Given the description of an element on the screen output the (x, y) to click on. 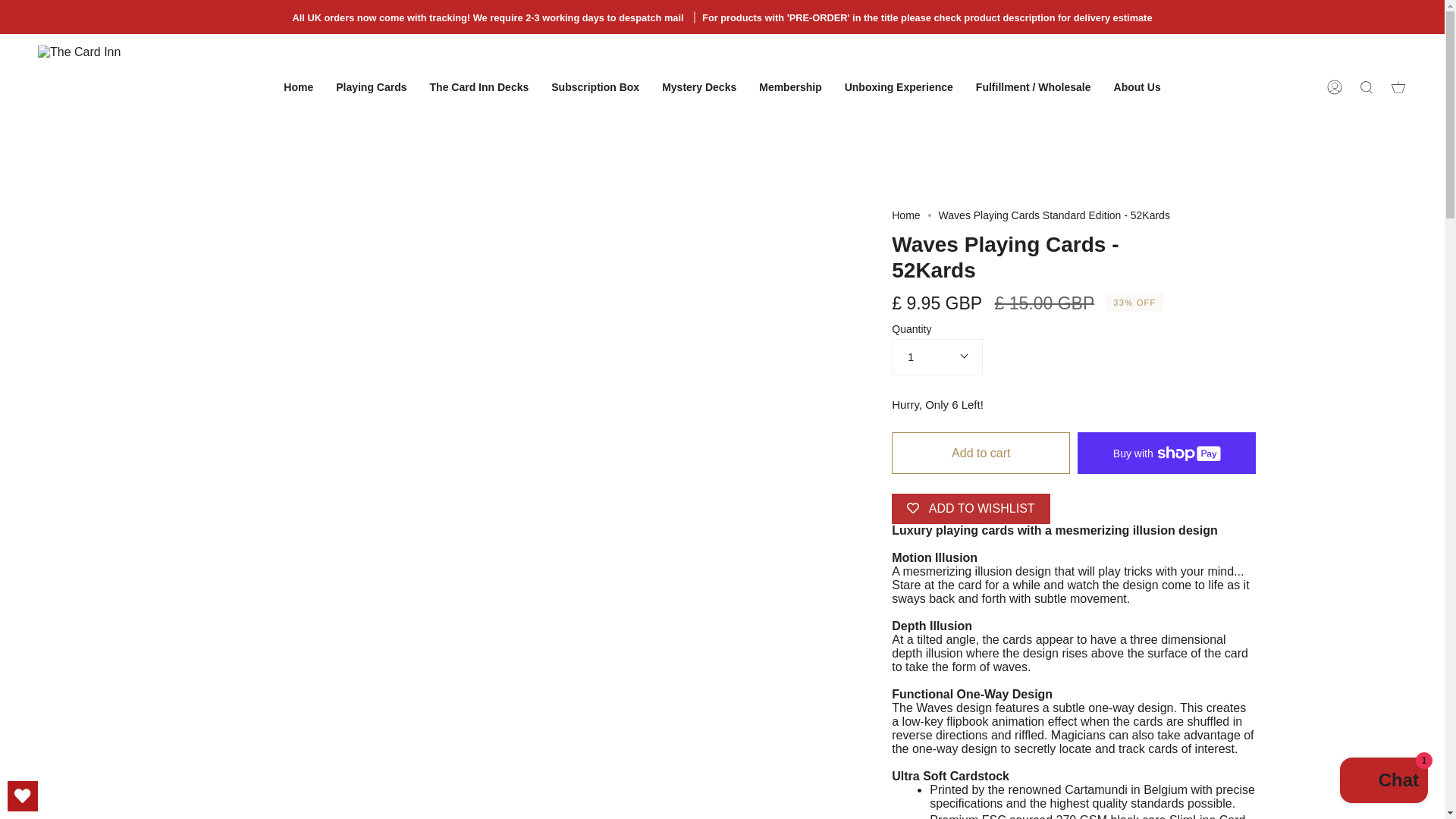
Shopify online store chat (1383, 781)
